Given the description of an element on the screen output the (x, y) to click on. 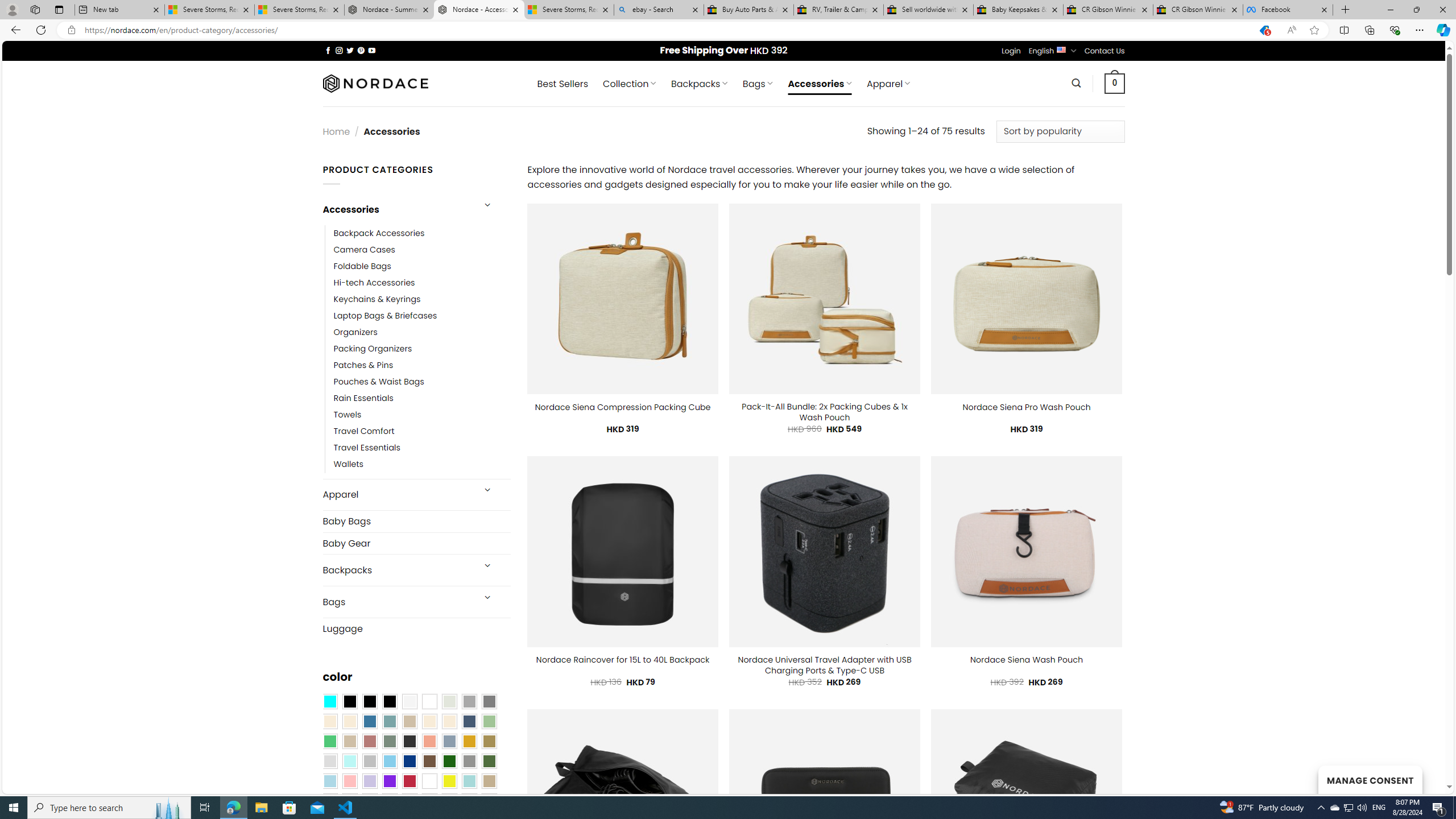
Travel Essentials (366, 448)
Cream (449, 721)
Towels (422, 415)
Towels (347, 415)
Buy Auto Parts & Accessories | eBay (747, 9)
Gold (468, 741)
Light Purple (369, 780)
English (1061, 49)
Pearly White (408, 701)
